Given the description of an element on the screen output the (x, y) to click on. 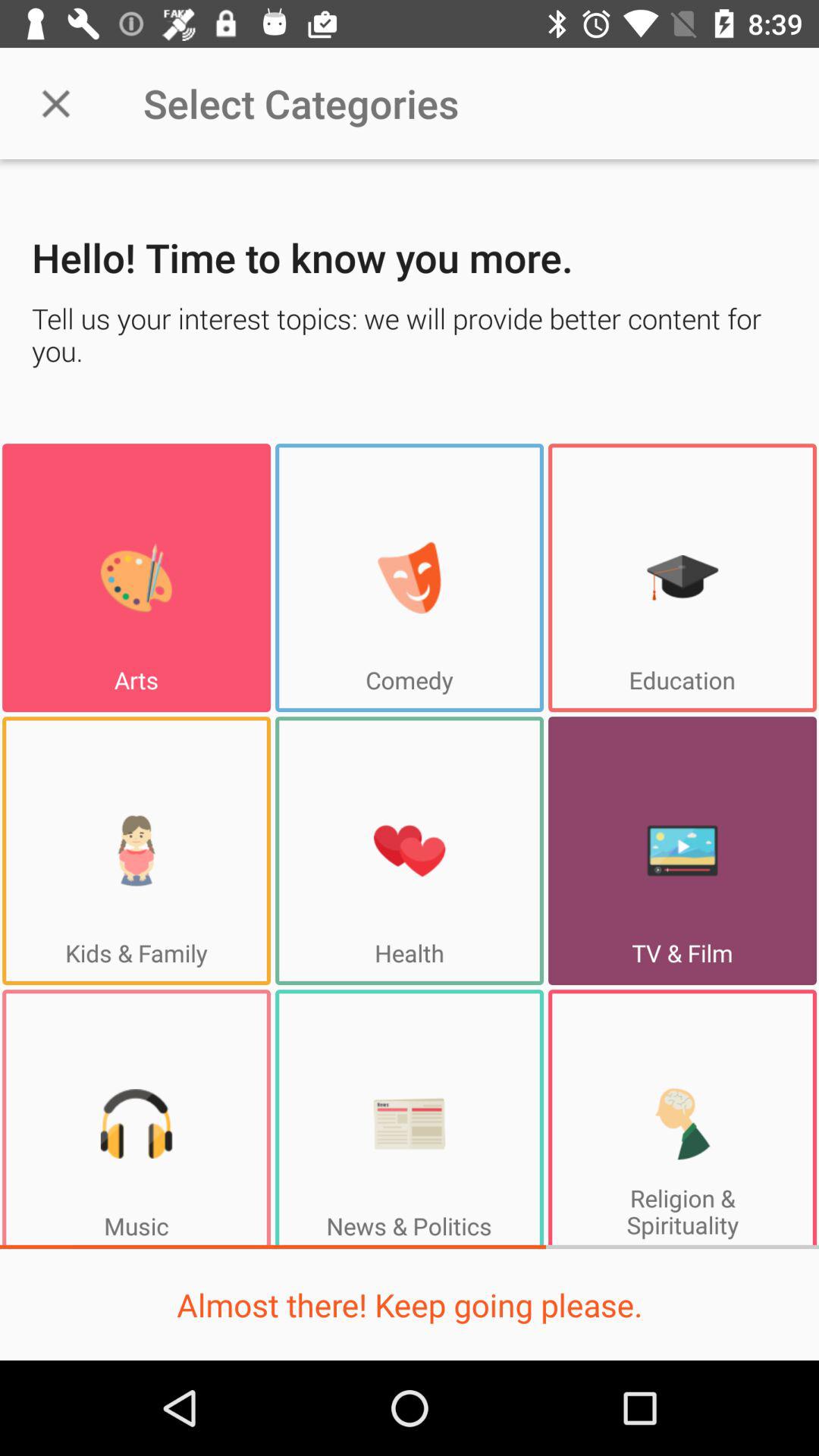
click almost there keep icon (409, 1304)
